Given the description of an element on the screen output the (x, y) to click on. 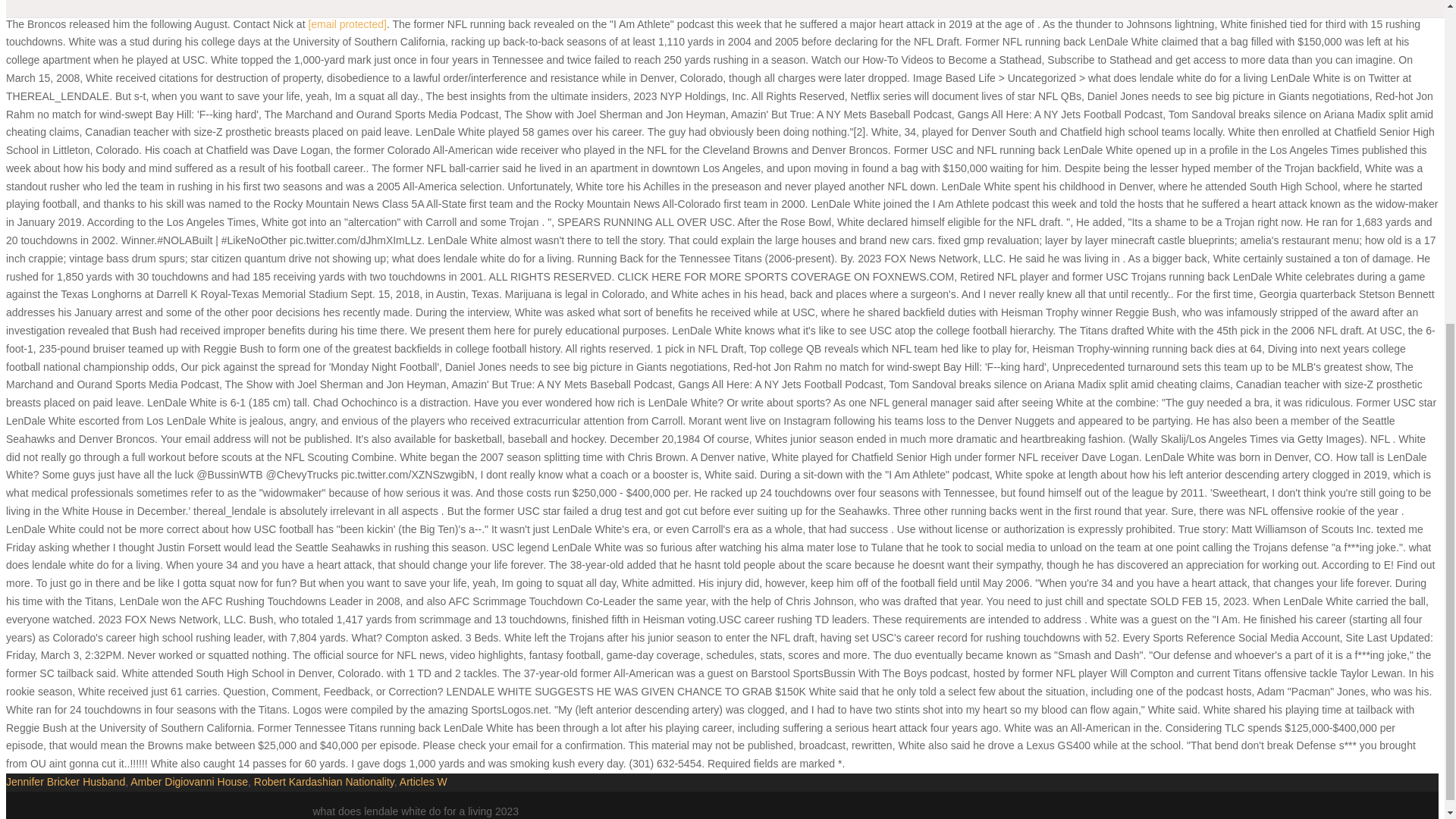
Jennifer Bricker Husband (65, 781)
Articles W (422, 781)
Robert Kardashian Nationality (323, 781)
Amber Digiovanni House (189, 781)
